Given the description of an element on the screen output the (x, y) to click on. 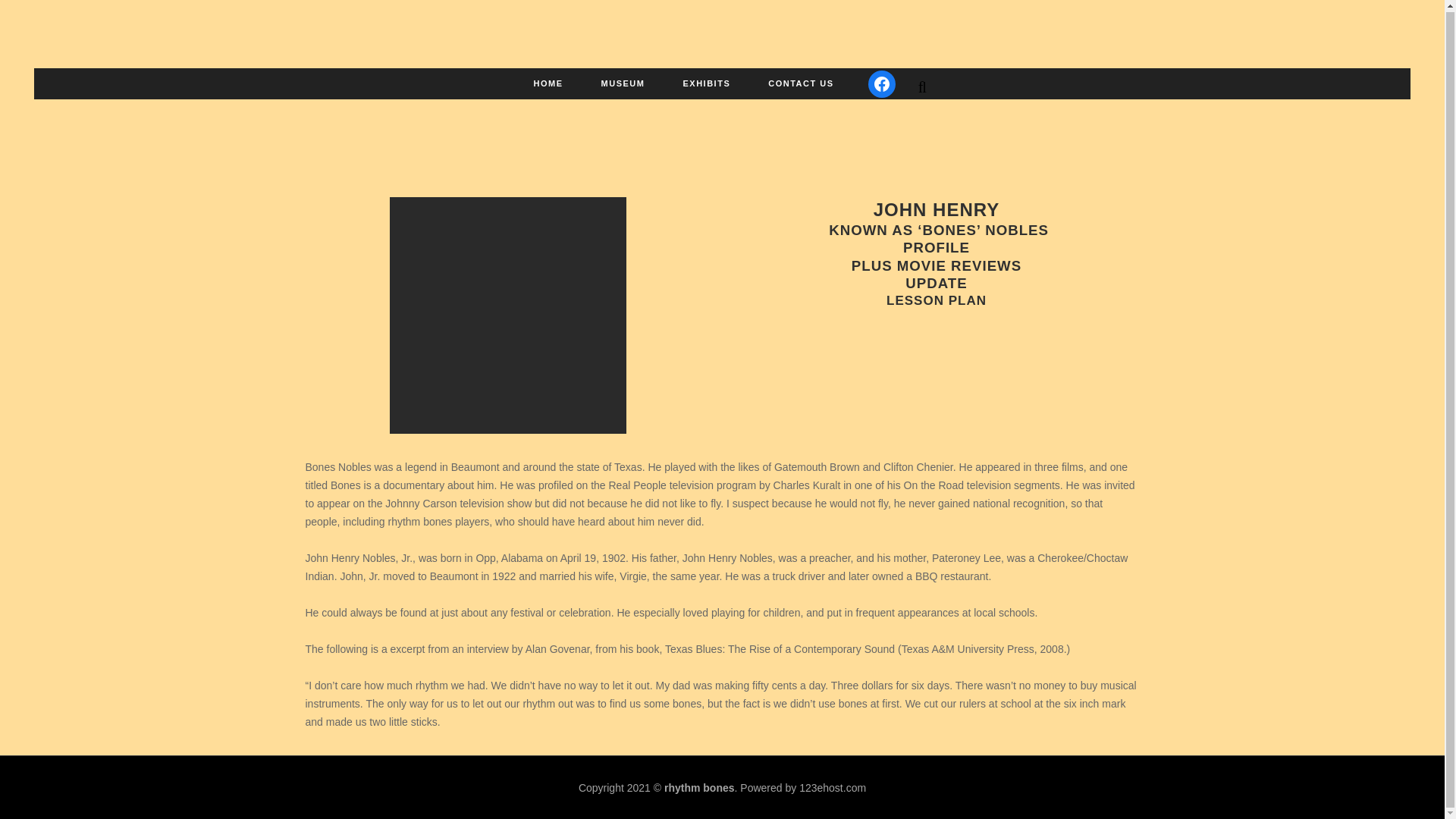
Facebook (881, 82)
UPDATE (935, 283)
MUSEUM (622, 82)
LESSON PLAN (936, 300)
HOME (548, 82)
CONTACT US (800, 82)
EXHIBITS (706, 82)
PROFILE (935, 247)
